Given the description of an element on the screen output the (x, y) to click on. 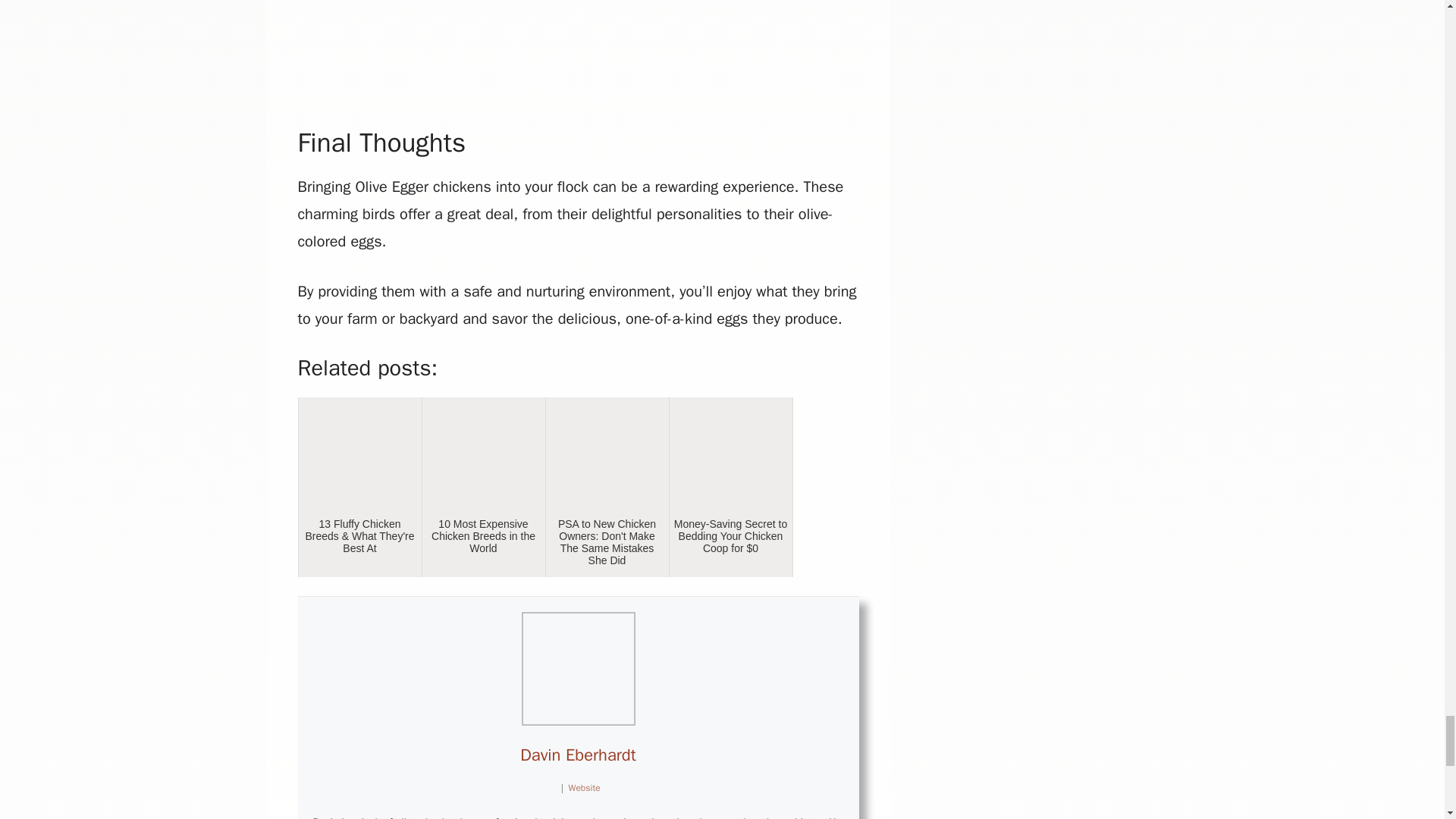
Website (584, 787)
10 Most Expensive Chicken Breeds in the World (484, 487)
Davin Eberhardt (576, 754)
